Given the description of an element on the screen output the (x, y) to click on. 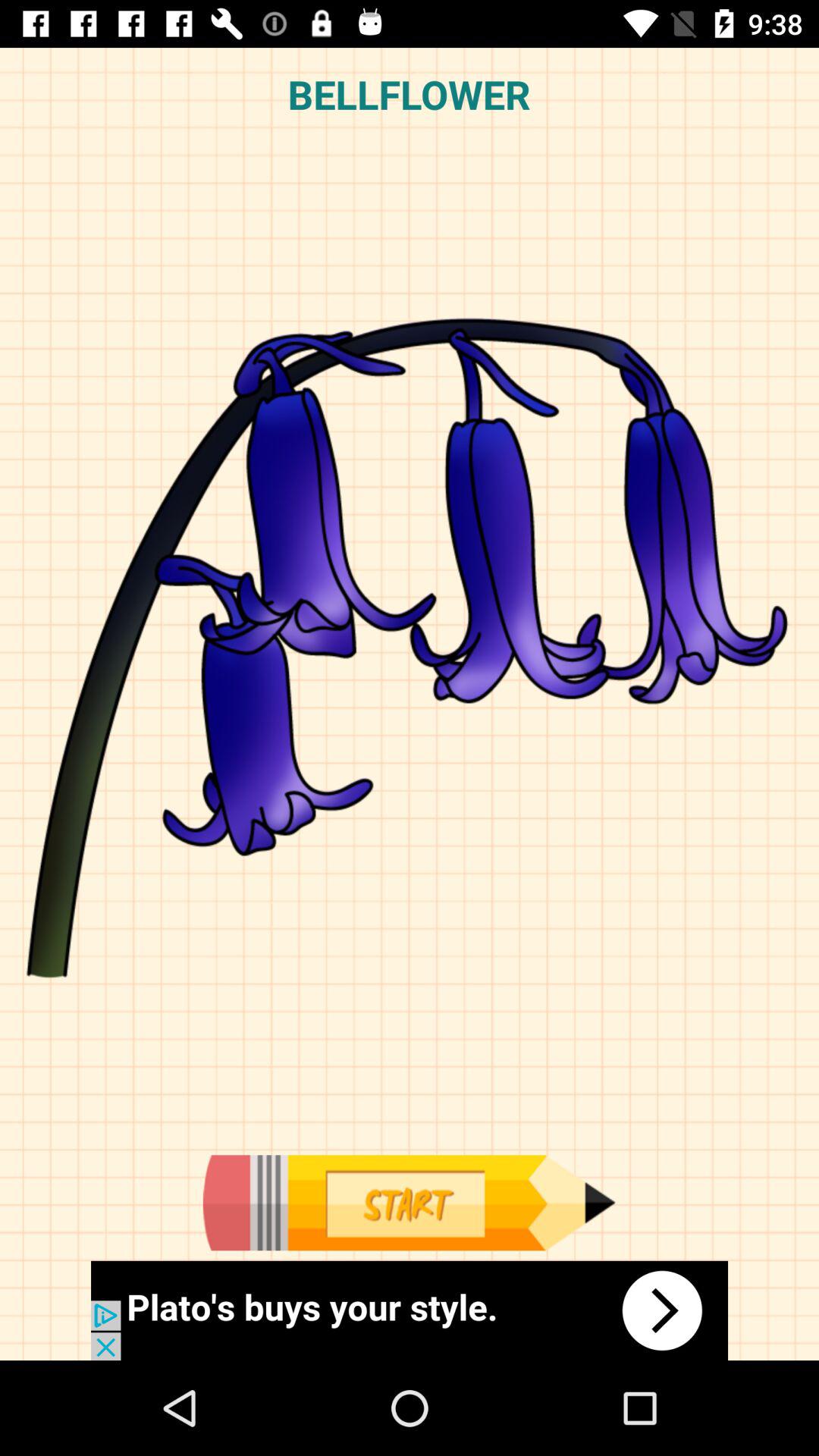
know about the advertisement (409, 1310)
